Given the description of an element on the screen output the (x, y) to click on. 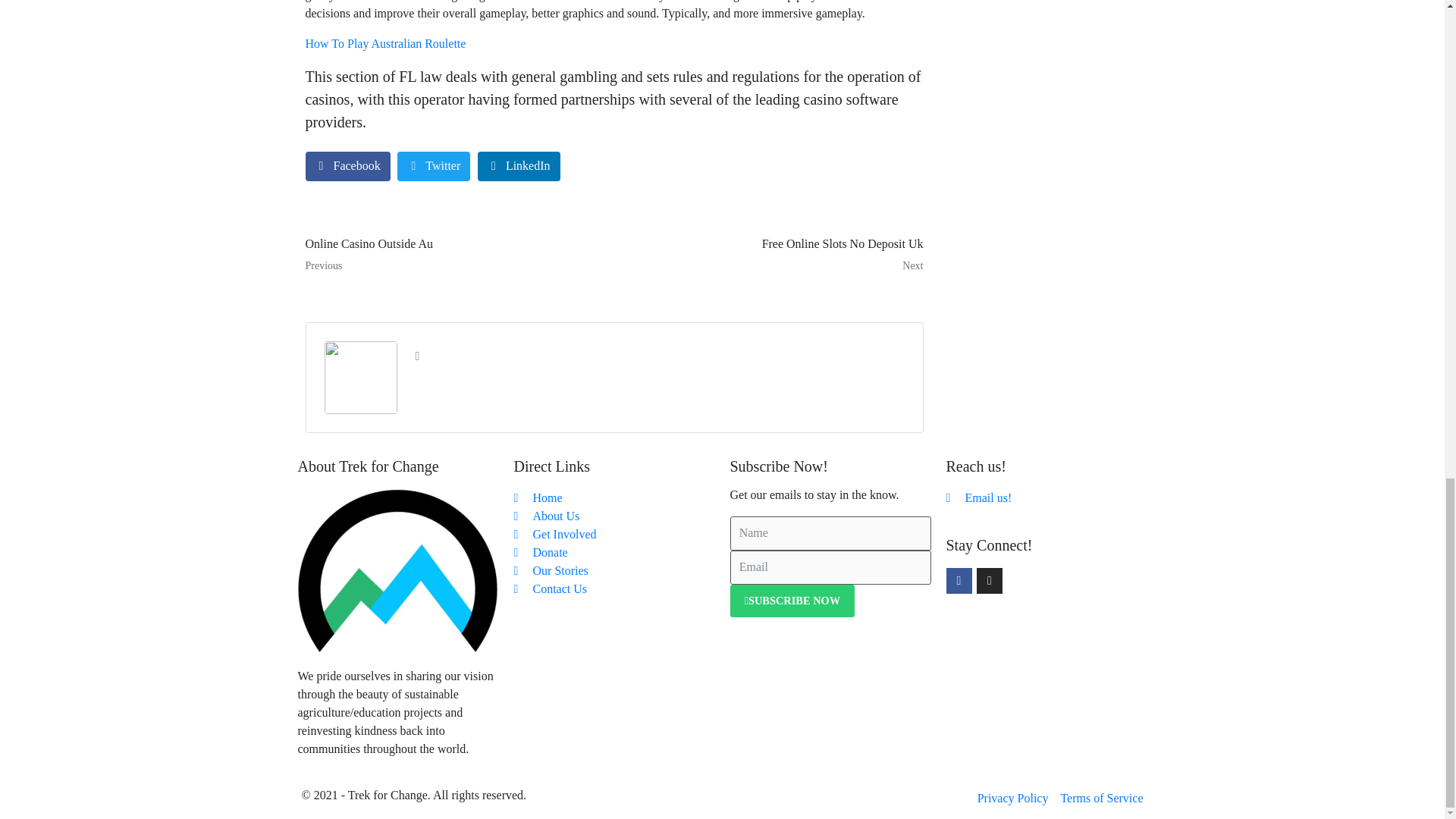
Free Online Slots No Deposit Uk (774, 254)
Facebook (347, 165)
Online Casino Outside Au (454, 254)
Twitter (433, 165)
LinkedIn (518, 165)
How To Play Australian Roulette (774, 254)
